Given the description of an element on the screen output the (x, y) to click on. 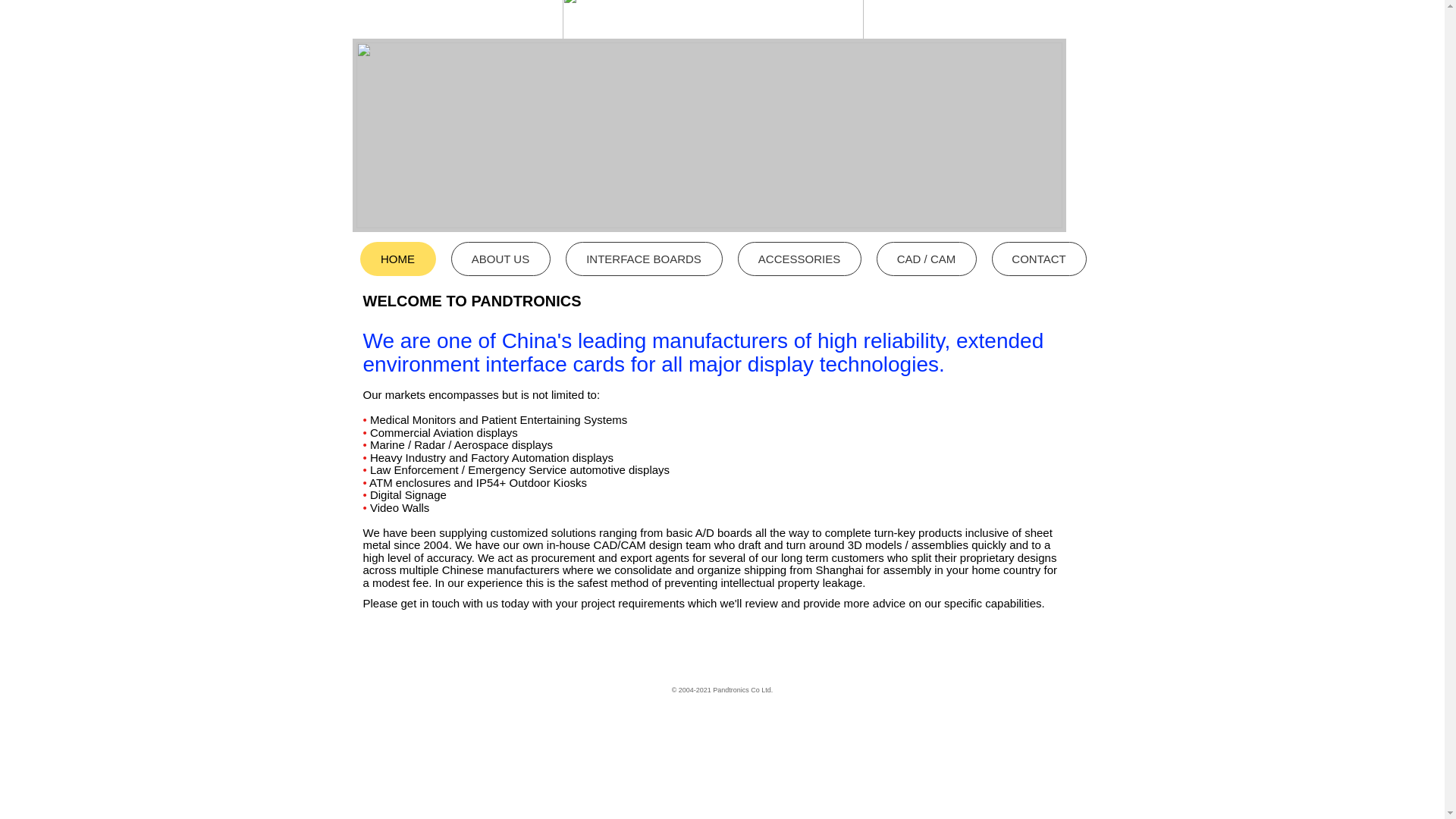
INTERFACE BOARDS (644, 258)
CONTACT (1038, 258)
ACCESSORIES (798, 258)
HOME (397, 258)
ABOUT US (499, 258)
